Given the description of an element on the screen output the (x, y) to click on. 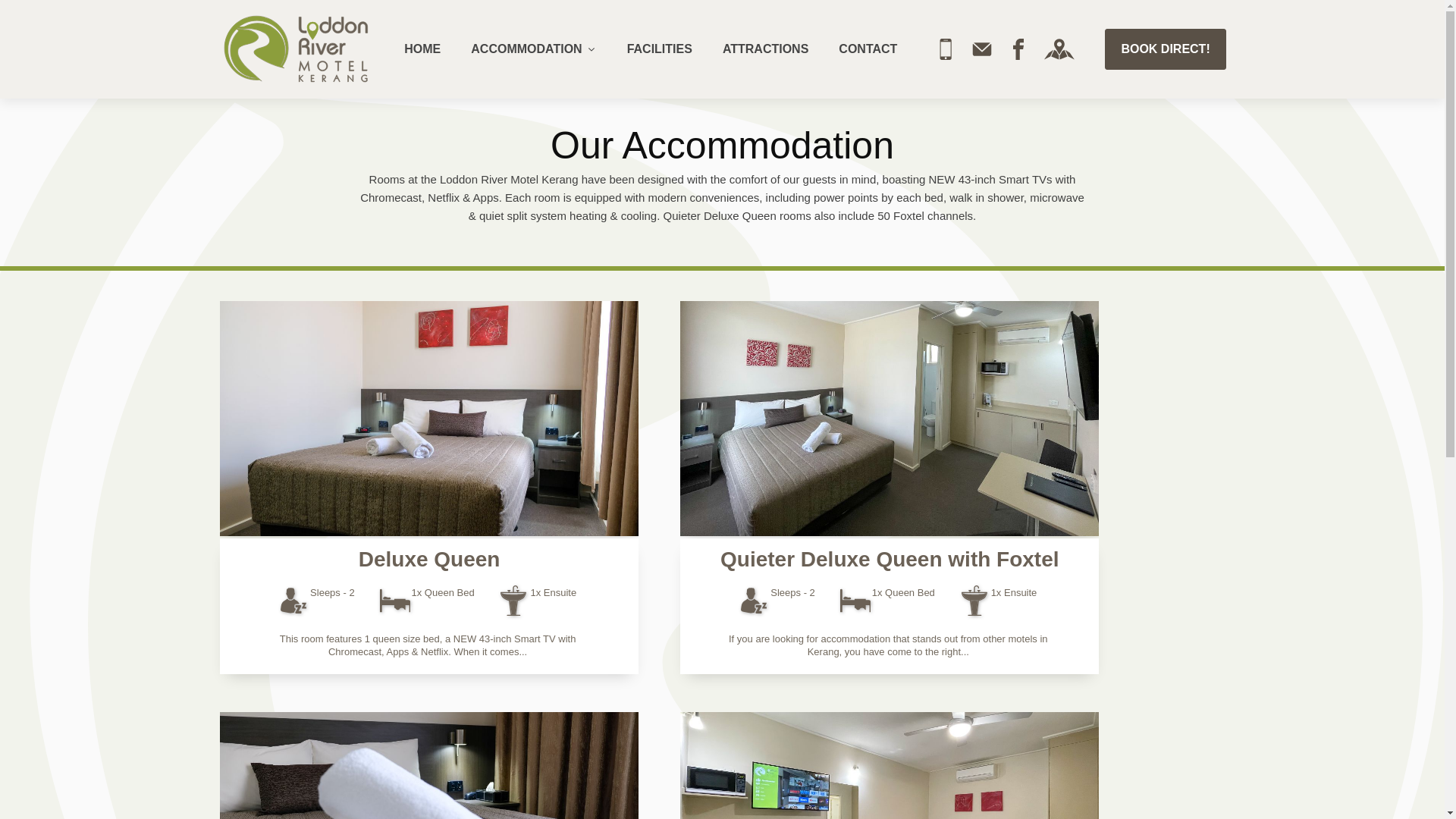
CONTACT Element type: text (867, 48)
ATTRACTIONS Element type: text (765, 48)
FACILITIES Element type: text (659, 48)
Quieter Deluxe Queen with Foxtel Element type: text (889, 559)
BOOK DIRECT! Element type: text (1164, 48)
ACCOMMODATION Element type: text (533, 48)
HOME Element type: text (422, 48)
Deluxe Queen Element type: text (429, 559)
